Given the description of an element on the screen output the (x, y) to click on. 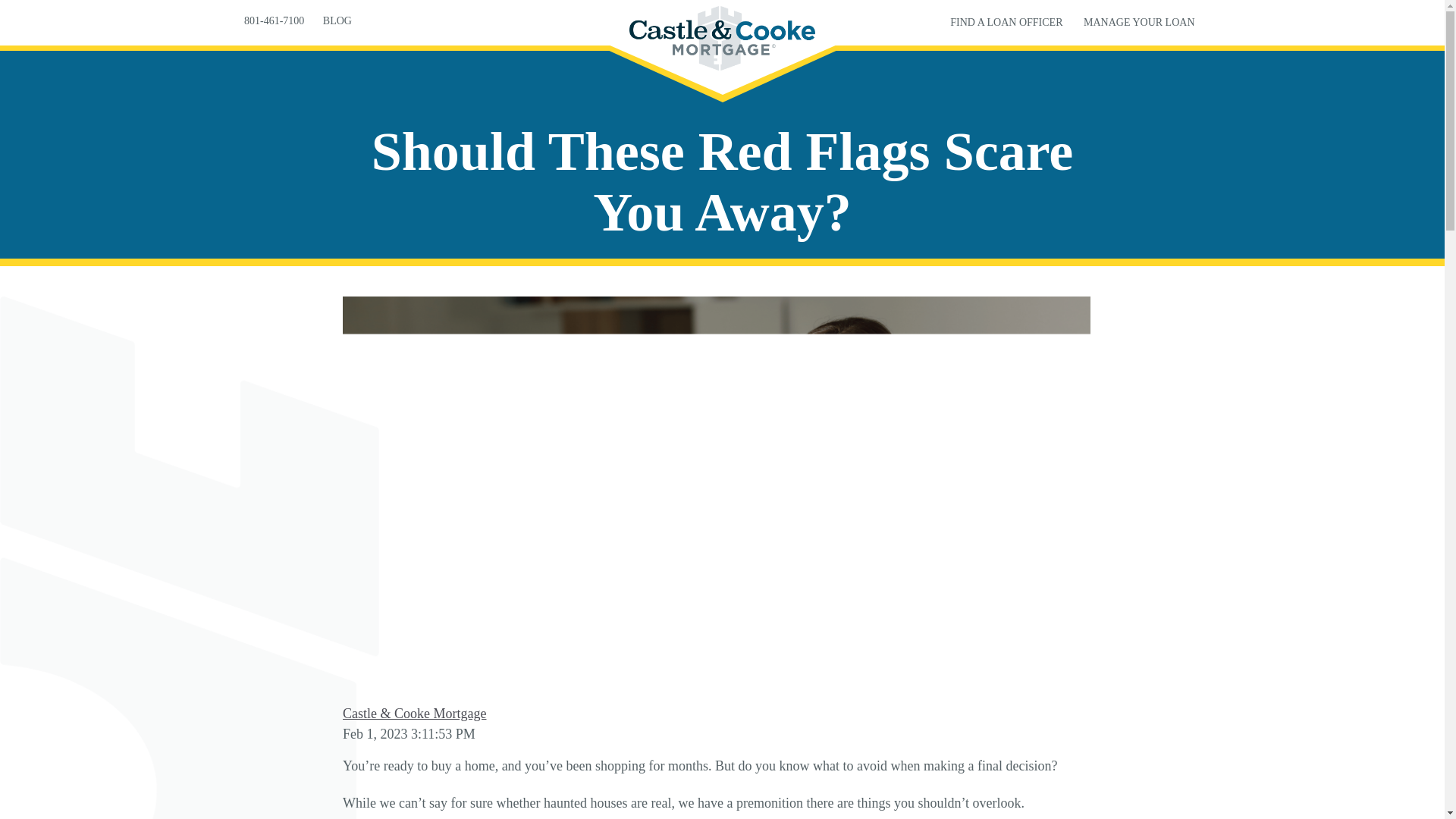
FIND A LOAN OFFICER (1006, 21)
801-461-7100 (274, 20)
MANAGE YOUR LOAN (1138, 21)
BLOG (337, 20)
